Given the description of an element on the screen output the (x, y) to click on. 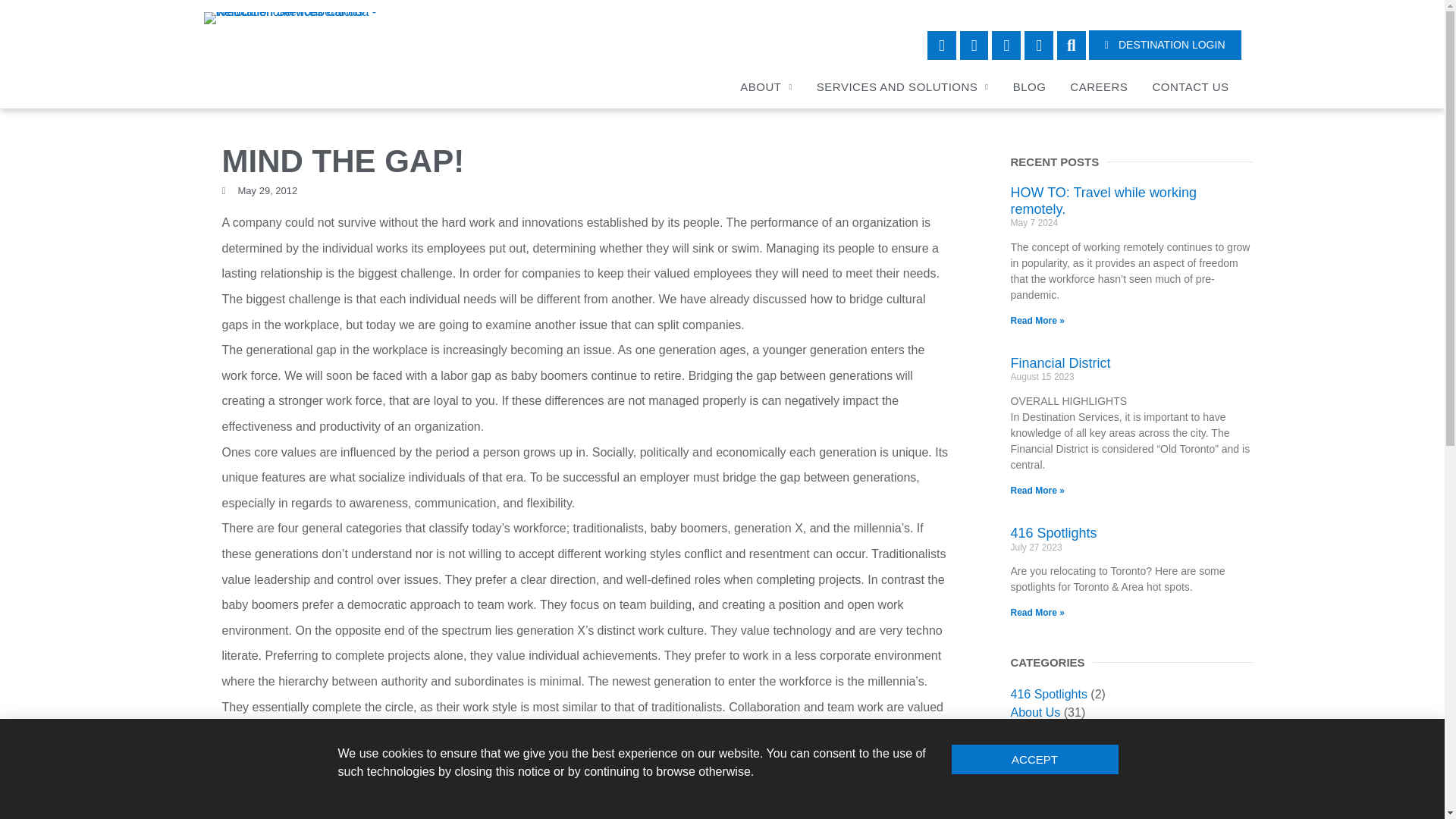
SERVICES AND SOLUTIONS (903, 87)
CAREERS (1099, 87)
ABOUT (766, 87)
CONTACT US (1190, 87)
BLOG (1029, 87)
DESTINATION LOGIN (1165, 44)
